Given the description of an element on the screen output the (x, y) to click on. 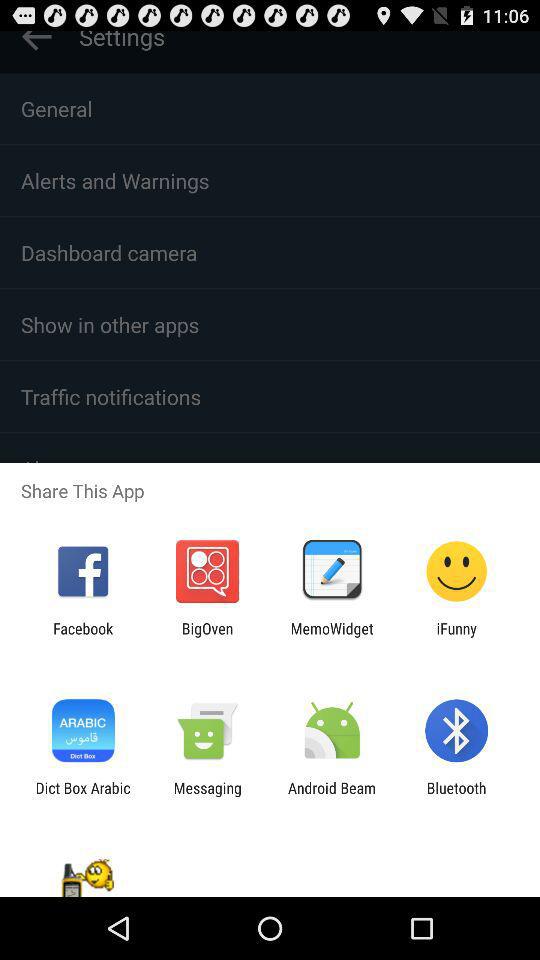
flip until the bluetooth icon (456, 796)
